Given the description of an element on the screen output the (x, y) to click on. 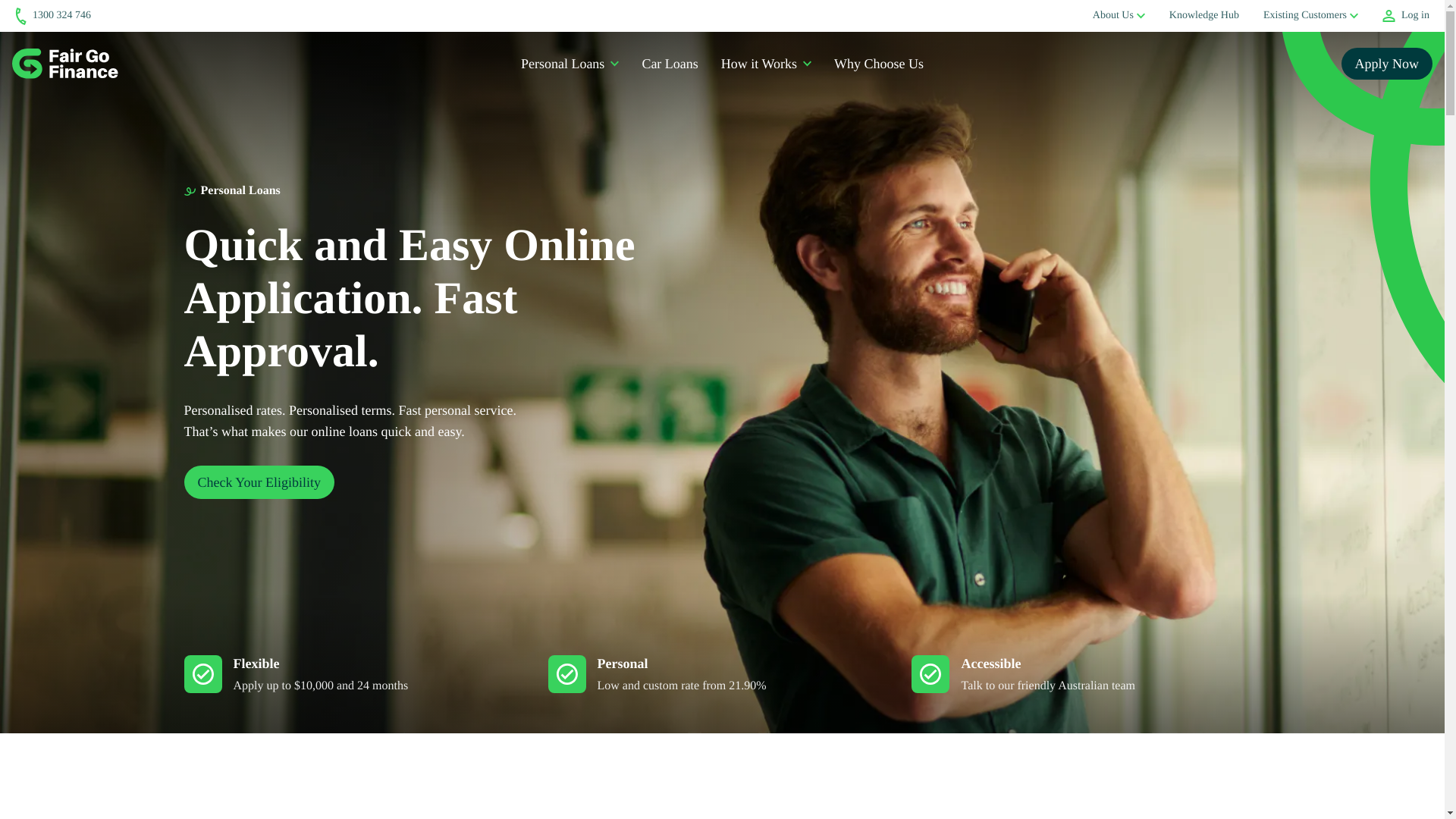
Why Choose Us (878, 64)
Personal Loans (562, 64)
Existing Customers (1304, 15)
Check Your Eligibility (258, 482)
Log in (1405, 15)
Apply Now (1386, 63)
1300 324 746 (52, 15)
Customer reviews powered by Trustpilot (196, 14)
Knowledge Hub (1204, 15)
Home (64, 63)
